Given the description of an element on the screen output the (x, y) to click on. 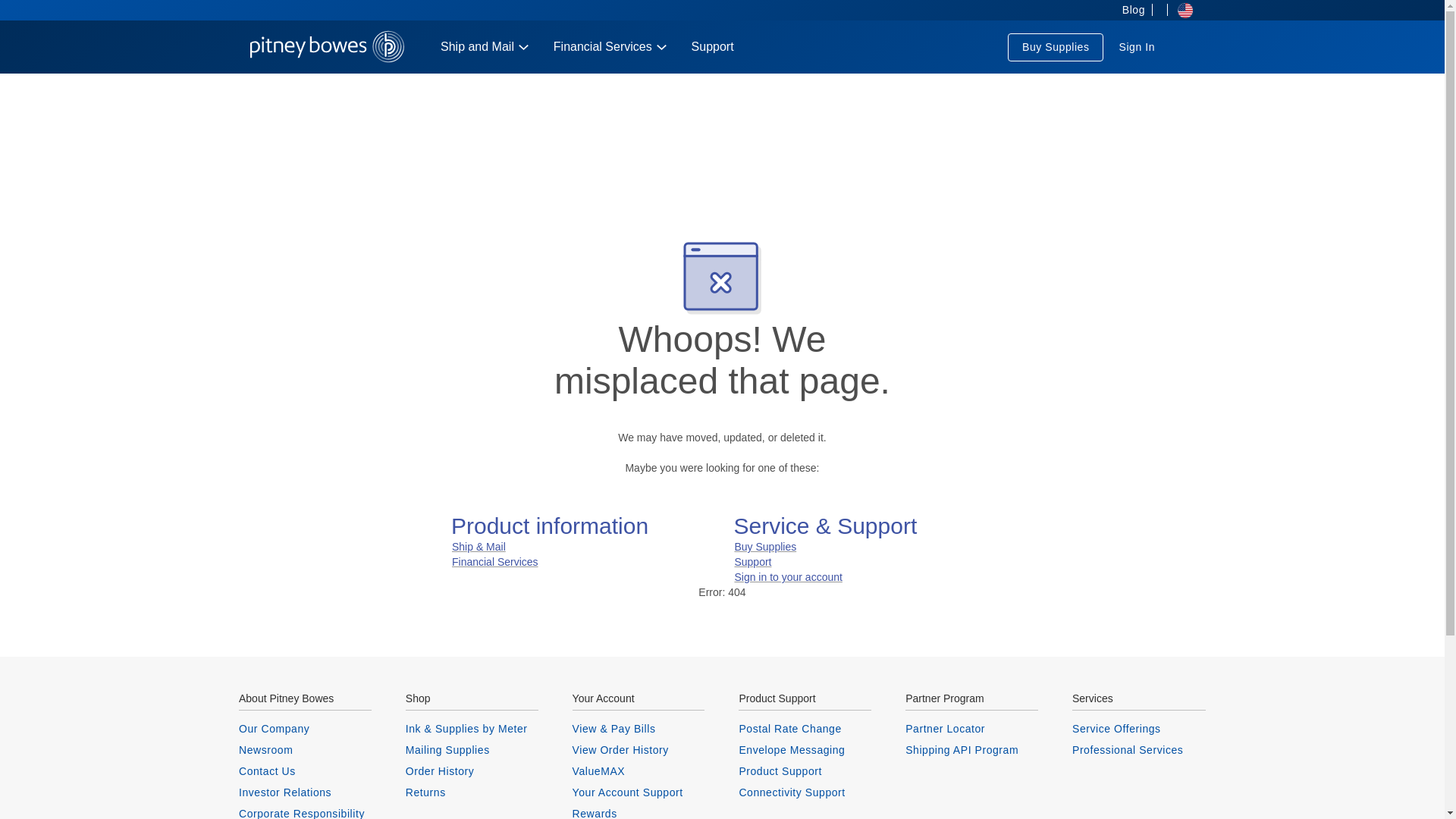
Your account (1135, 46)
Mailing Supplies (472, 749)
Our Company (304, 728)
Contact Us (304, 771)
Choose a region (1180, 10)
Newsroom (304, 749)
Investor Relations (304, 792)
Blog (1128, 10)
Blog (1128, 10)
Buy Supplies (1055, 46)
